Given the description of an element on the screen output the (x, y) to click on. 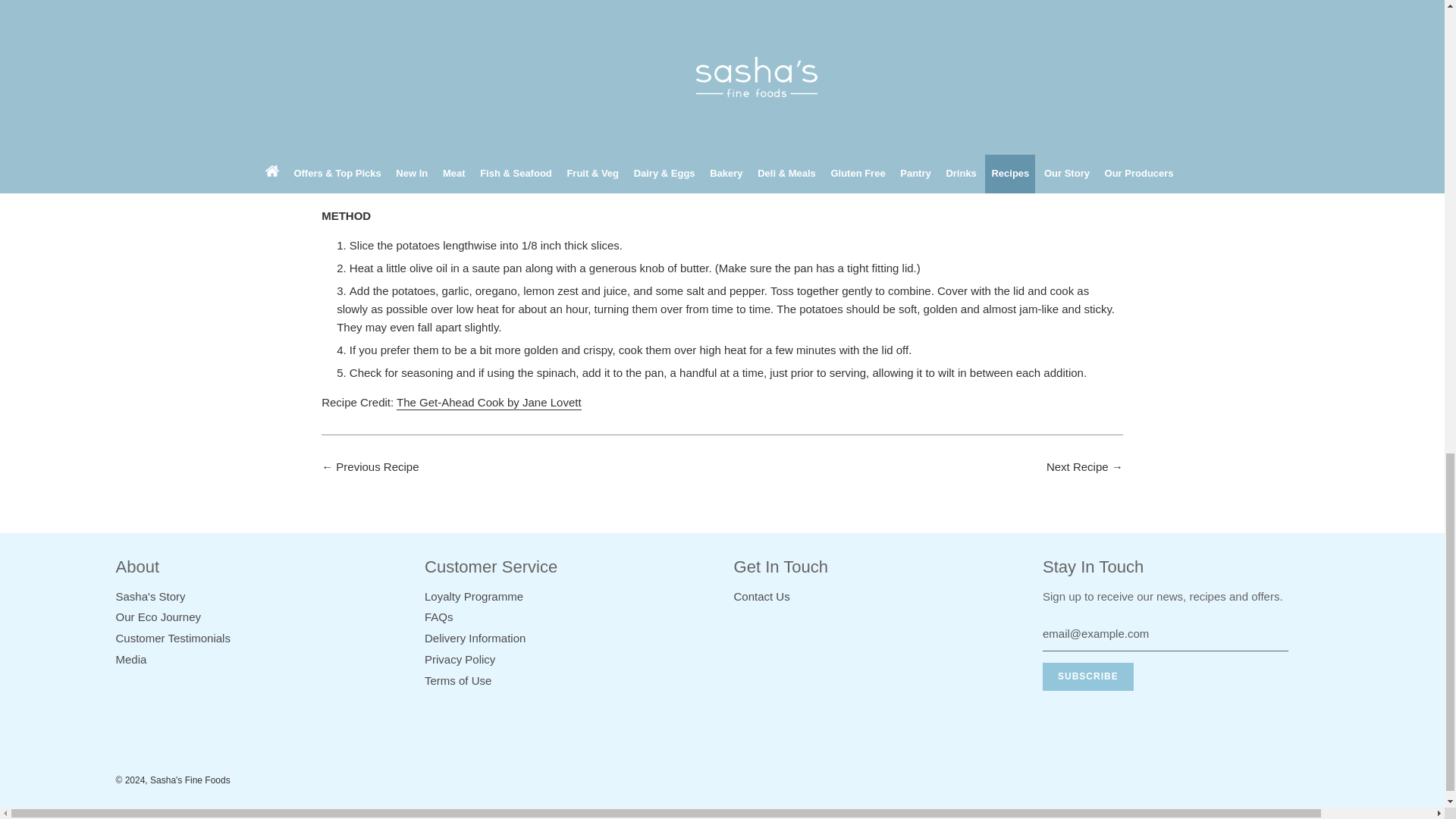
Subscribe (1088, 676)
